Given the description of an element on the screen output the (x, y) to click on. 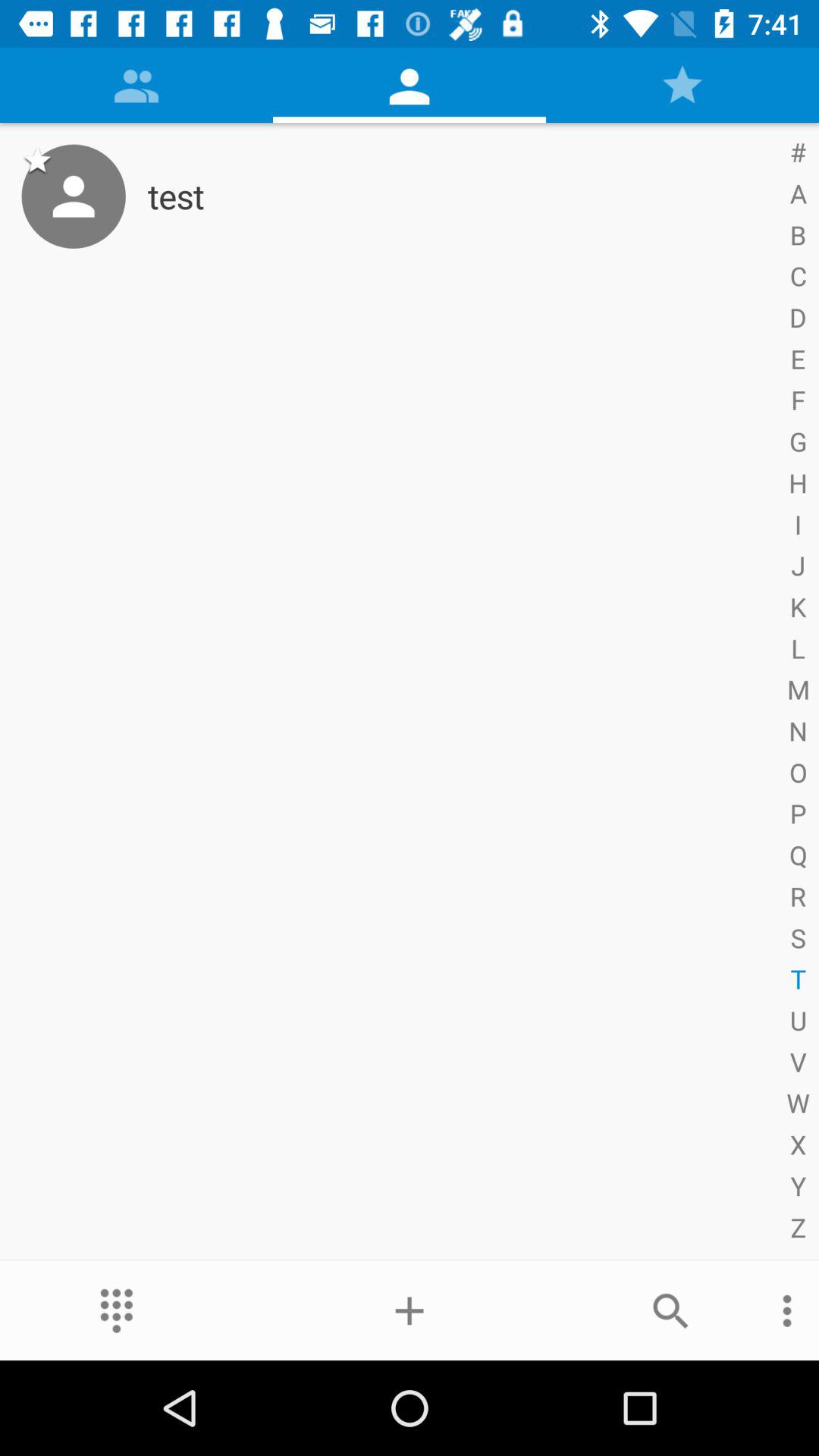
click the item below test item (670, 1310)
